Given the description of an element on the screen output the (x, y) to click on. 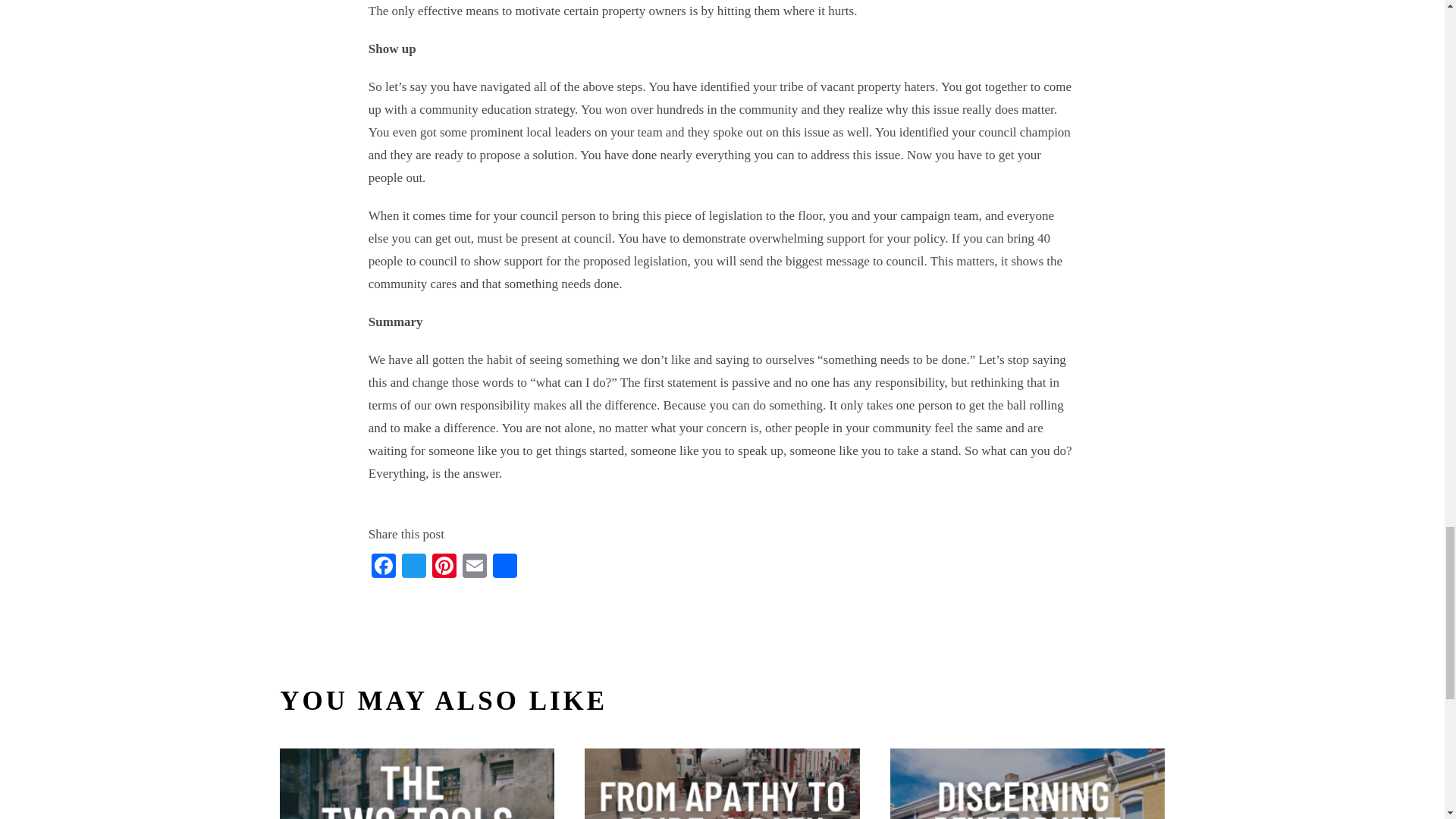
Facebook (383, 567)
Twitter (413, 567)
Share (504, 567)
Twitter (413, 567)
Pinterest (444, 567)
Email (474, 567)
Facebook (383, 567)
Pinterest (444, 567)
Email (474, 567)
